Given the description of an element on the screen output the (x, y) to click on. 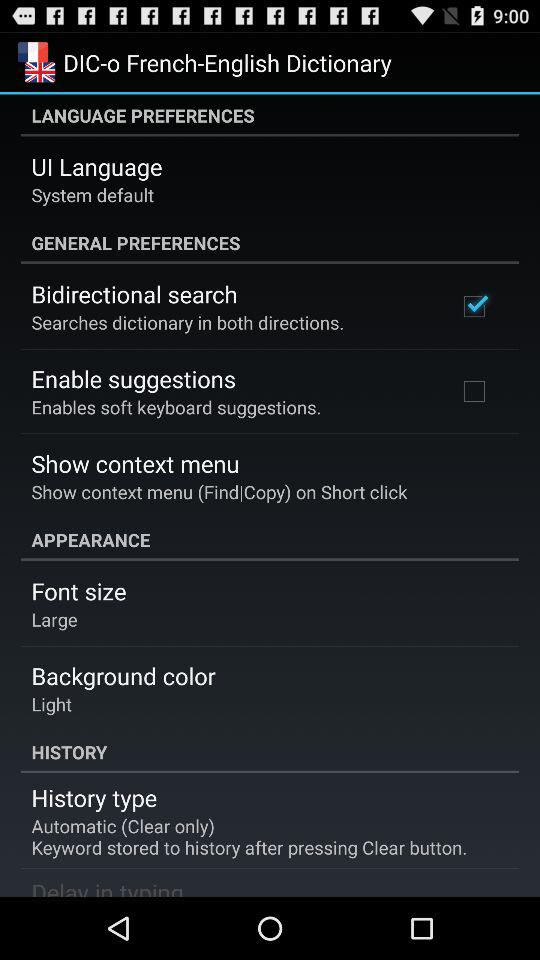
select the background color (123, 675)
